Given the description of an element on the screen output the (x, y) to click on. 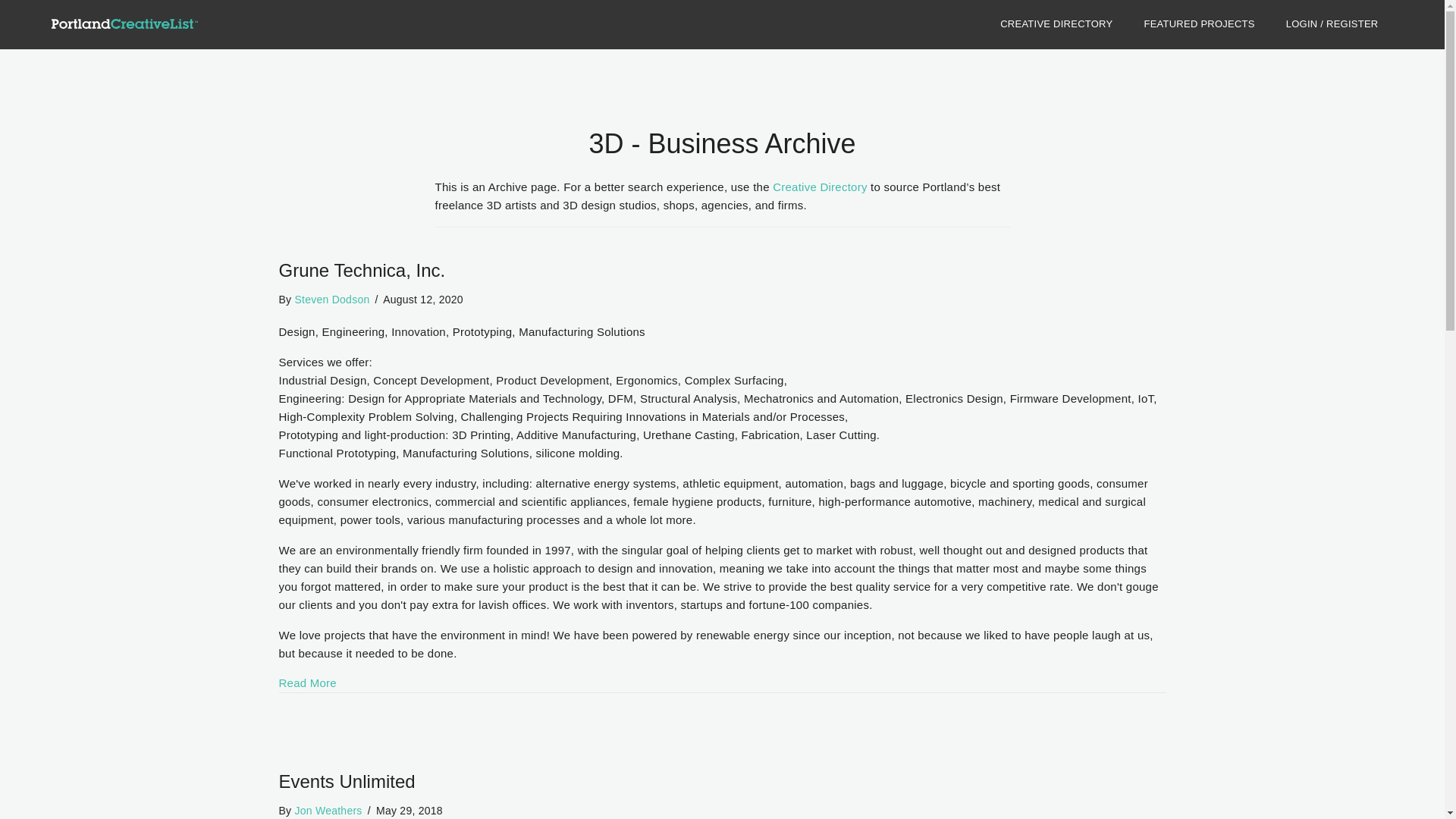
Steven Dodson (331, 299)
Grune Technica, Inc. (362, 270)
FEATURED PROJECTS (1198, 24)
Grune Technica, Inc. (307, 683)
Creative Directory (820, 186)
Read More (307, 683)
CREATIVE DIRECTORY (1055, 24)
Events Unlimited (346, 781)
Events Unlimited (346, 781)
Grune Technica, Inc. (362, 270)
PCLHeaderLogo (124, 23)
Jon Weathers (327, 810)
